Given the description of an element on the screen output the (x, y) to click on. 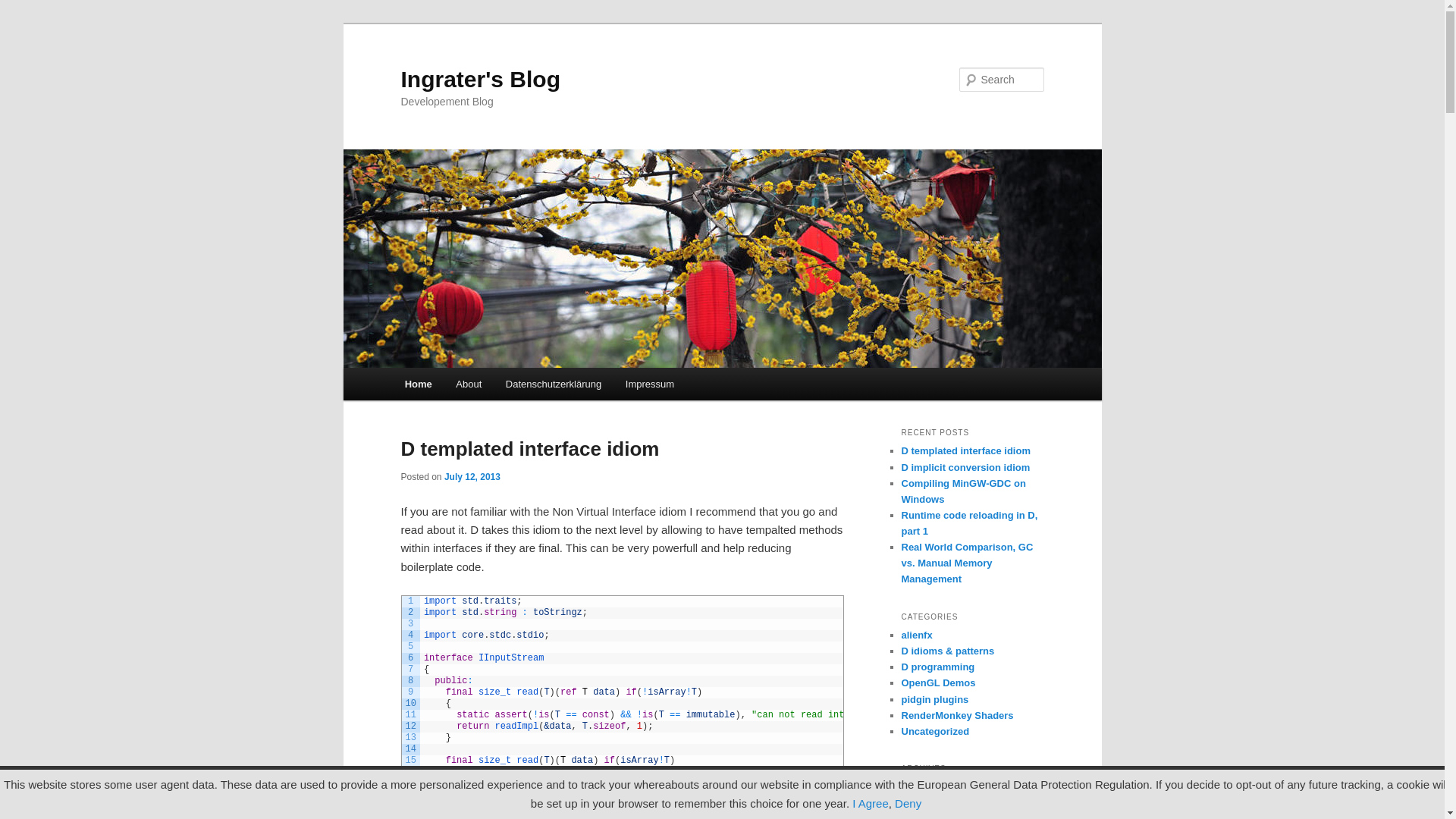
Ingrater's Blog (480, 78)
Home (418, 383)
Impressum (648, 383)
08:48 (472, 476)
D templated interface idiom (529, 448)
About (468, 383)
July 12, 2013 (472, 476)
Search (24, 8)
